Given the description of an element on the screen output the (x, y) to click on. 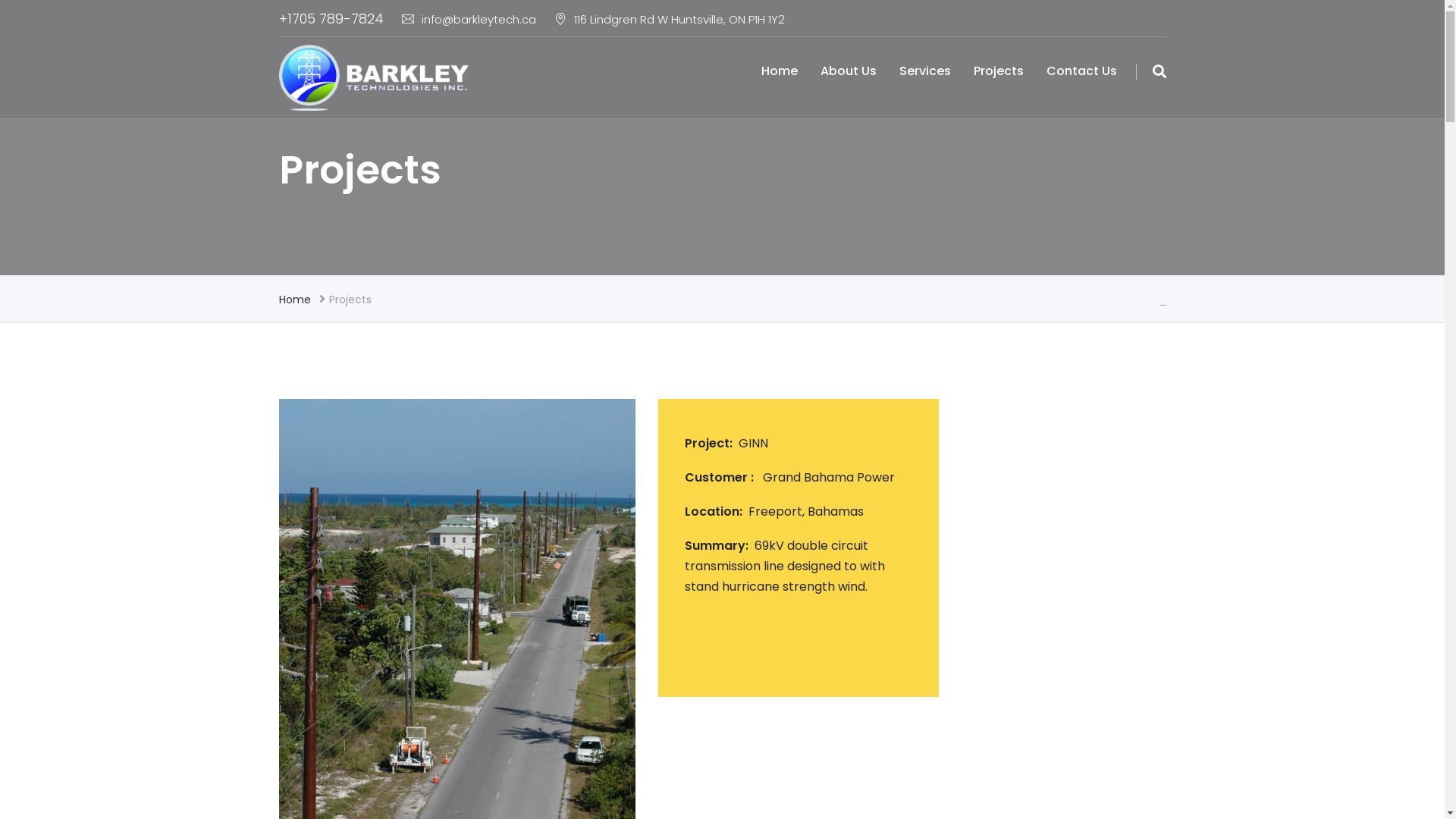
Nortech Element type: hover (373, 77)
Home Element type: text (779, 70)
info@barkleytech.ca Element type: text (468, 19)
116 Lindgren Rd W Huntsville, ON P1H 1Y2 Element type: text (668, 19)
Contact Us Element type: text (1081, 70)
Home Element type: text (294, 299)
+1705 789-7824 Element type: text (331, 18)
About Us Element type: text (848, 70)
Services Element type: text (924, 70)
Projects Element type: text (998, 70)
